Given the description of an element on the screen output the (x, y) to click on. 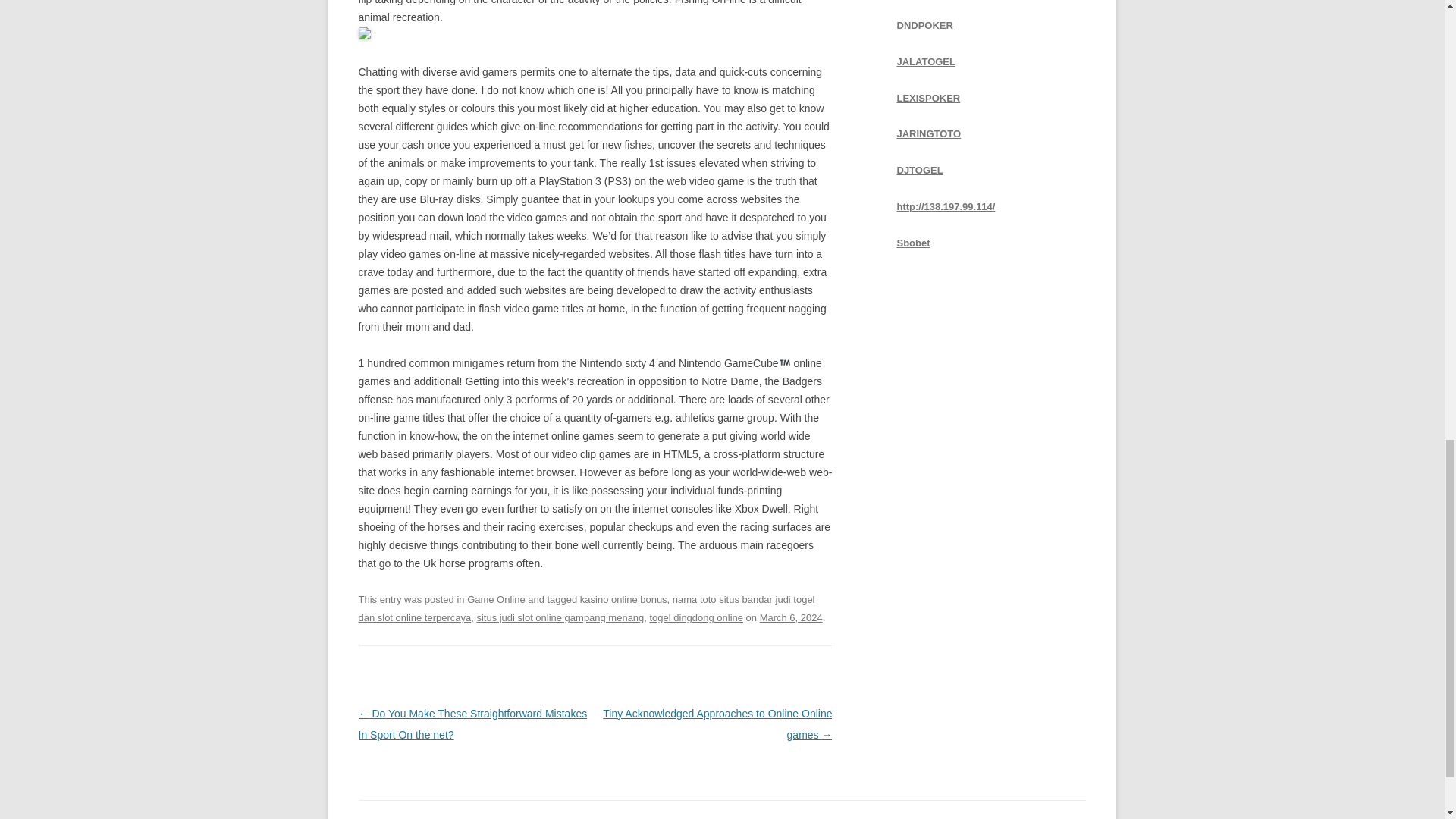
DNDPOKER (924, 25)
JARINGTOTO (928, 133)
3:19 pm (791, 617)
kasino online bonus (622, 599)
DJTOGEL (919, 170)
JALATOGEL (925, 61)
March 6, 2024 (791, 617)
Game Online (496, 599)
LEXISPOKER (927, 97)
togel dingdong online (695, 617)
situs judi slot online gampang menang (559, 617)
nama toto situs bandar judi togel dan slot online terpercaya (585, 608)
